Given the description of an element on the screen output the (x, y) to click on. 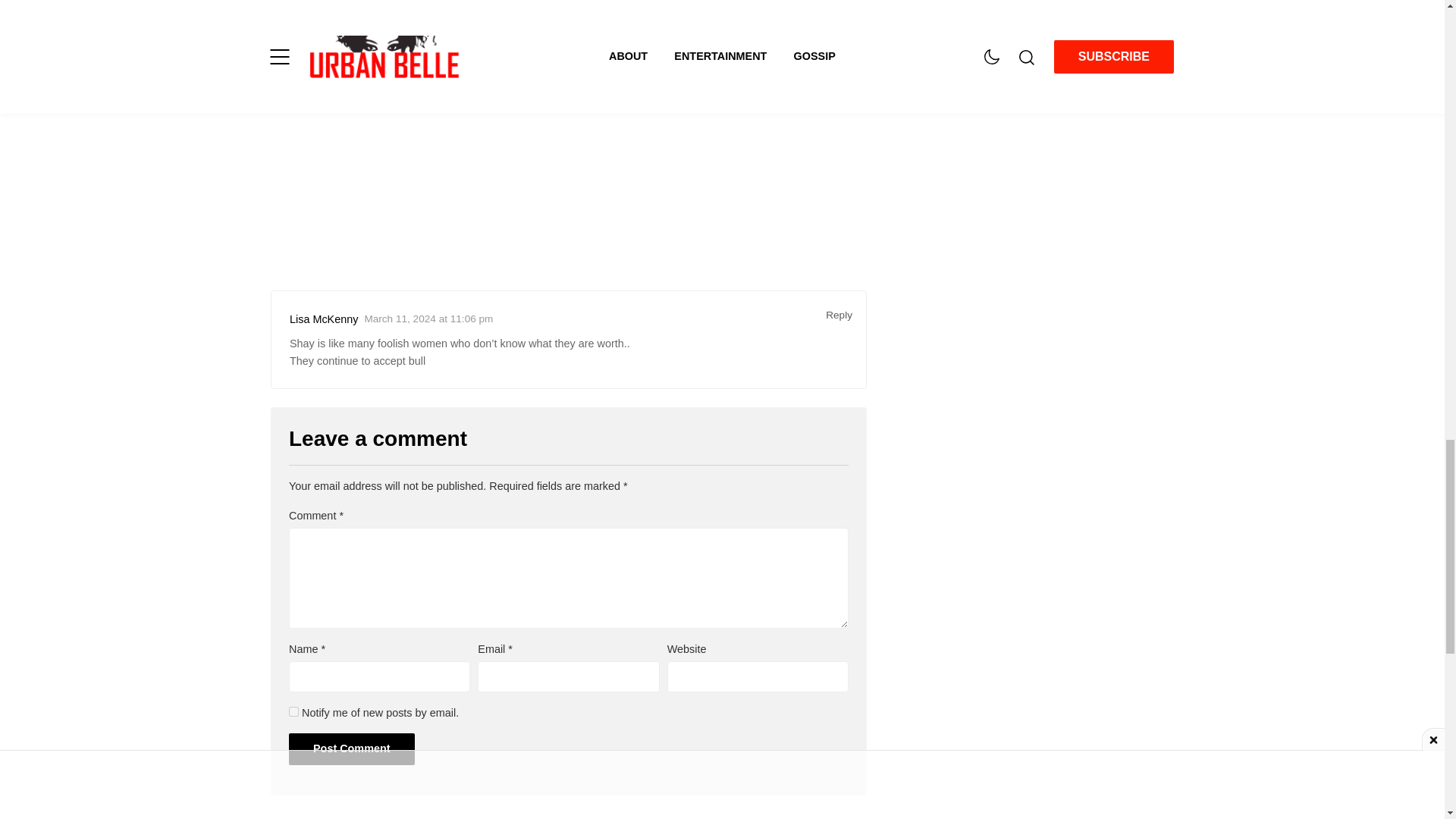
subscribe (293, 711)
Post Comment (351, 748)
